Given the description of an element on the screen output the (x, y) to click on. 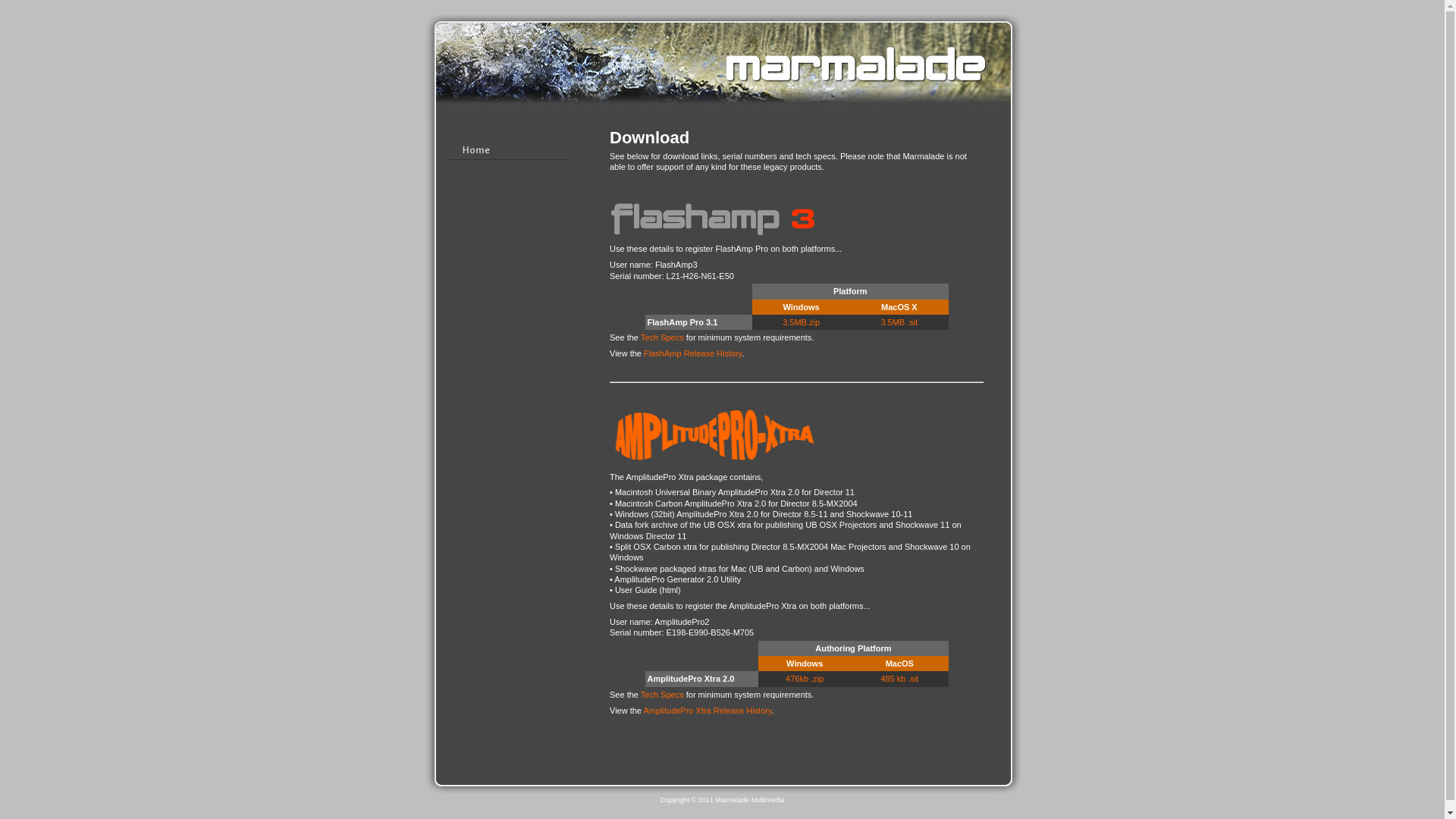
Tech Specs Element type: text (662, 694)
FlashAmp Release History Element type: text (692, 352)
3.5MB.zip Element type: text (800, 321)
AmplitudePro Xtra Release History Element type: text (707, 710)
3.5MB .sit Element type: text (898, 321)
476kb .zip Element type: text (804, 678)
Tech Specs Element type: text (662, 337)
485 kb .sit Element type: text (899, 678)
